Given the description of an element on the screen output the (x, y) to click on. 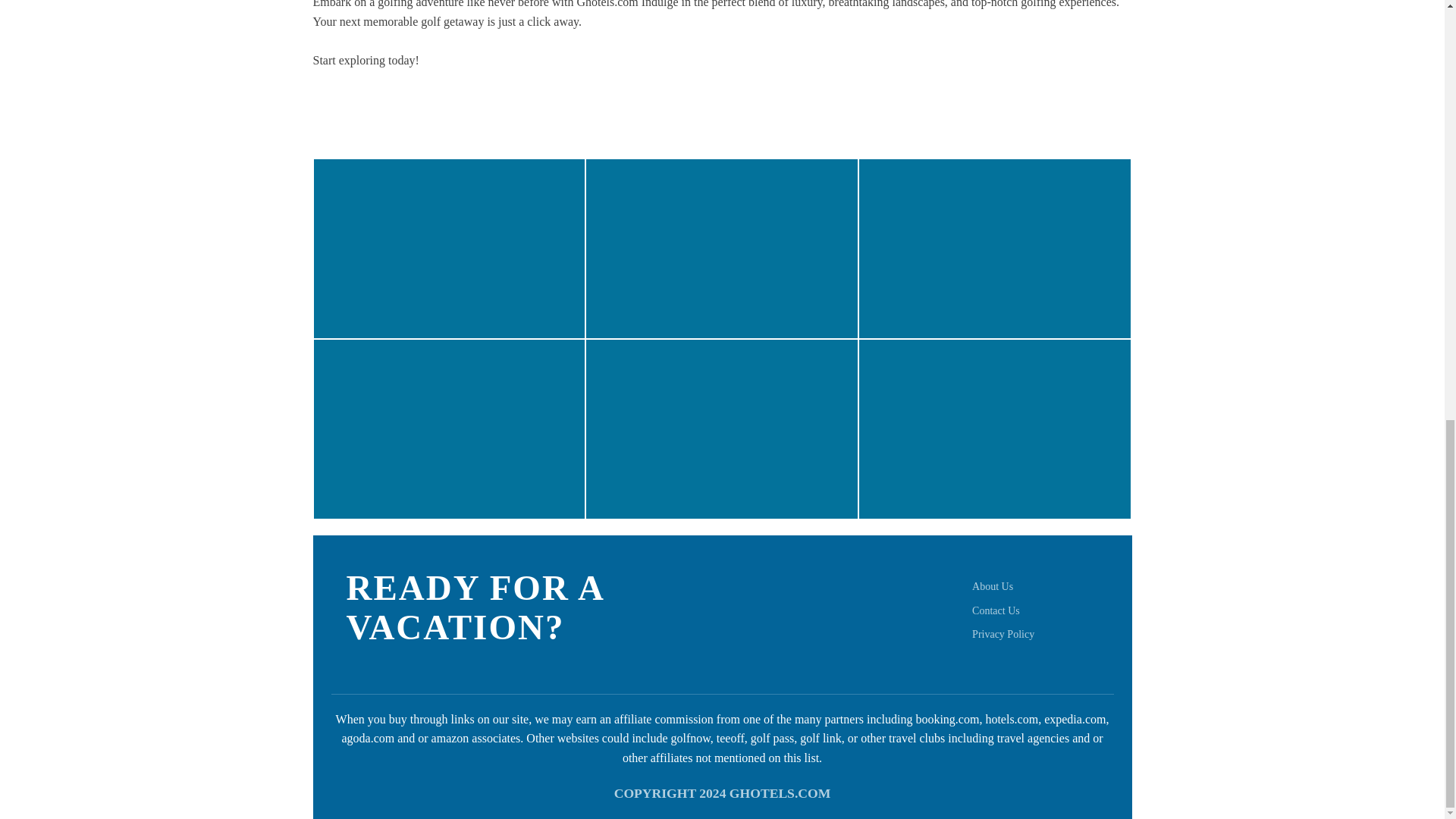
Contact Us (996, 610)
Privacy Policy (1002, 633)
About Us (992, 586)
